Given the description of an element on the screen output the (x, y) to click on. 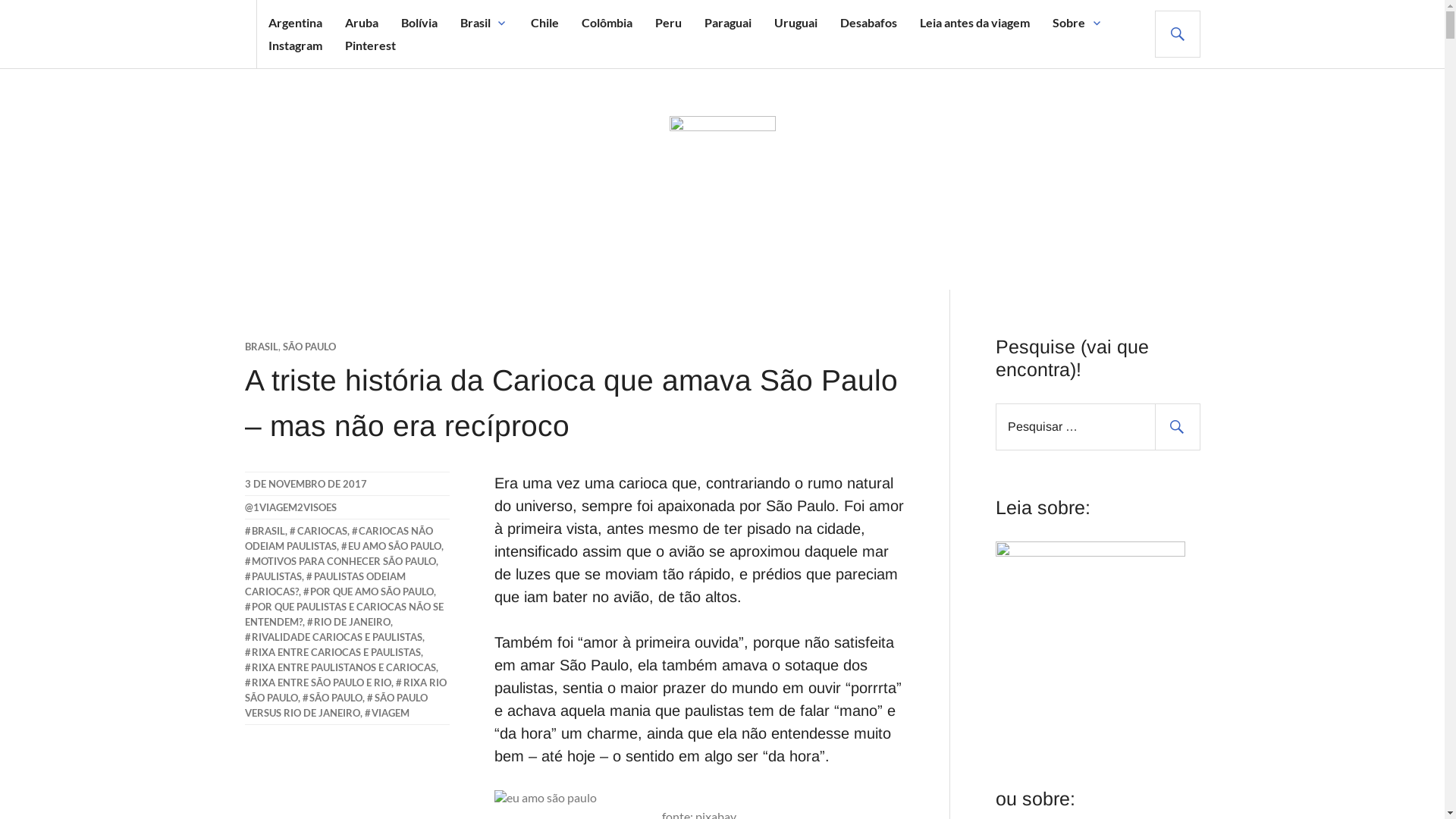
RIO DE JANEIRO Element type: text (348, 621)
CARIOCAS Element type: text (318, 530)
BRASIL Element type: text (264, 530)
BRASIL Element type: text (260, 346)
Pesquisar Element type: text (1176, 426)
Sobre Element type: text (1068, 22)
RIVALIDADE CARIOCAS E PAULISTAS Element type: text (333, 636)
Aruba Element type: text (360, 22)
Peru Element type: text (668, 22)
PAULISTAS Element type: text (272, 576)
PAULISTAS ODEIAM CARIOCAS? Element type: text (324, 583)
Instagram Element type: text (295, 45)
Paraguai Element type: text (727, 22)
Desabafos Element type: text (868, 22)
Leia antes da viagem Element type: text (974, 22)
3 DE NOVEMBRO DE 2017 Element type: text (305, 483)
RIXA ENTRE CARIOCAS E PAULISTAS Element type: text (332, 652)
@1VIAGEM2VISOES Element type: text (289, 507)
Brasil Element type: text (474, 22)
VIAGEM Element type: text (386, 712)
Argentina Element type: text (295, 22)
RIXA ENTRE PAULISTANOS E CARIOCAS Element type: text (340, 667)
Uruguai Element type: text (795, 22)
Chile Element type: text (544, 22)
Pinterest Element type: text (369, 45)
